Given the description of an element on the screen output the (x, y) to click on. 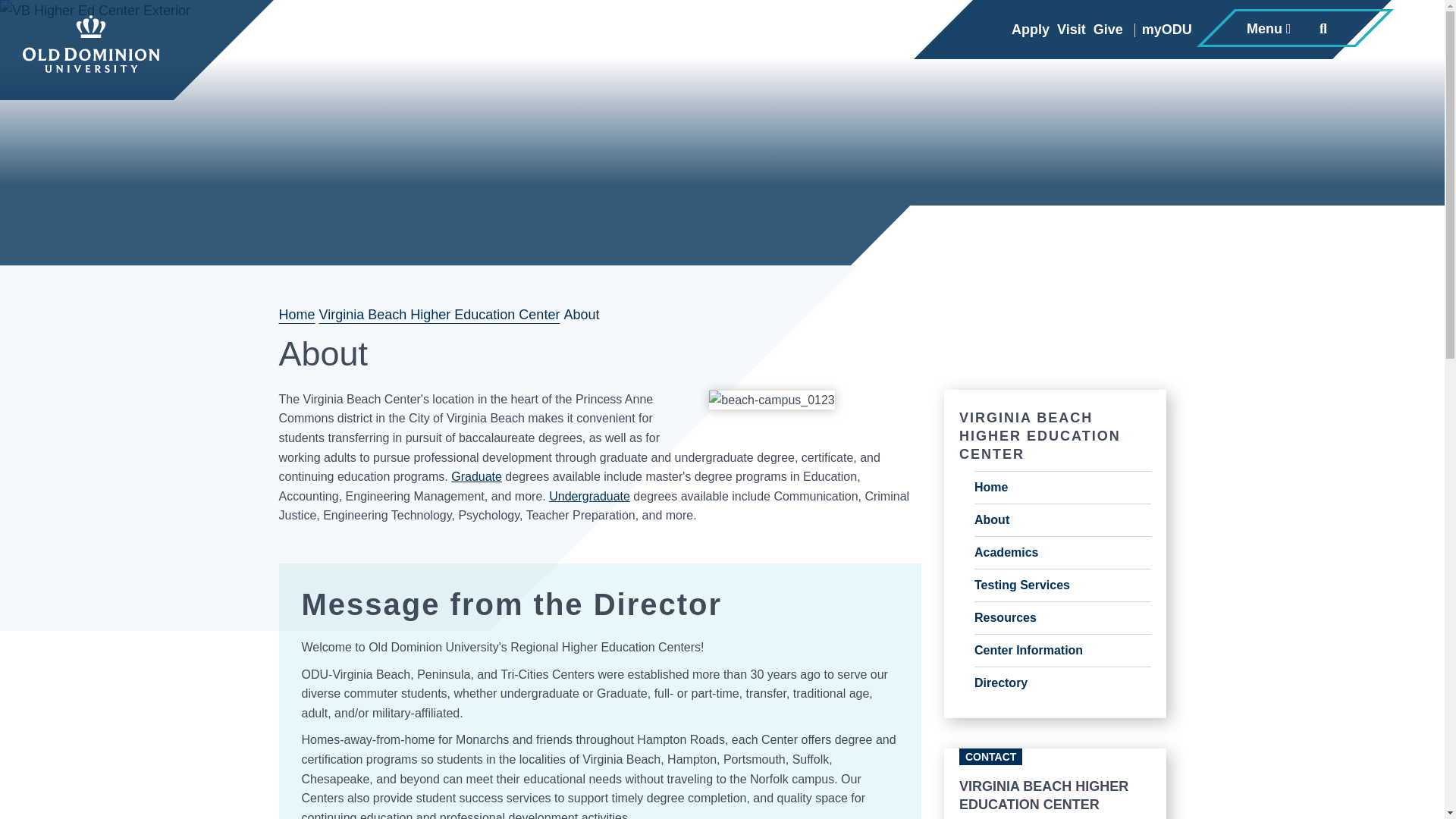
Apply (1030, 30)
Virginia Beach Higher Education Center (439, 314)
About (1062, 519)
Home (297, 314)
Visit (1071, 30)
Center Information (1062, 650)
Graduate (476, 476)
Undergraduate (589, 495)
myODU (1163, 30)
